Given the description of an element on the screen output the (x, y) to click on. 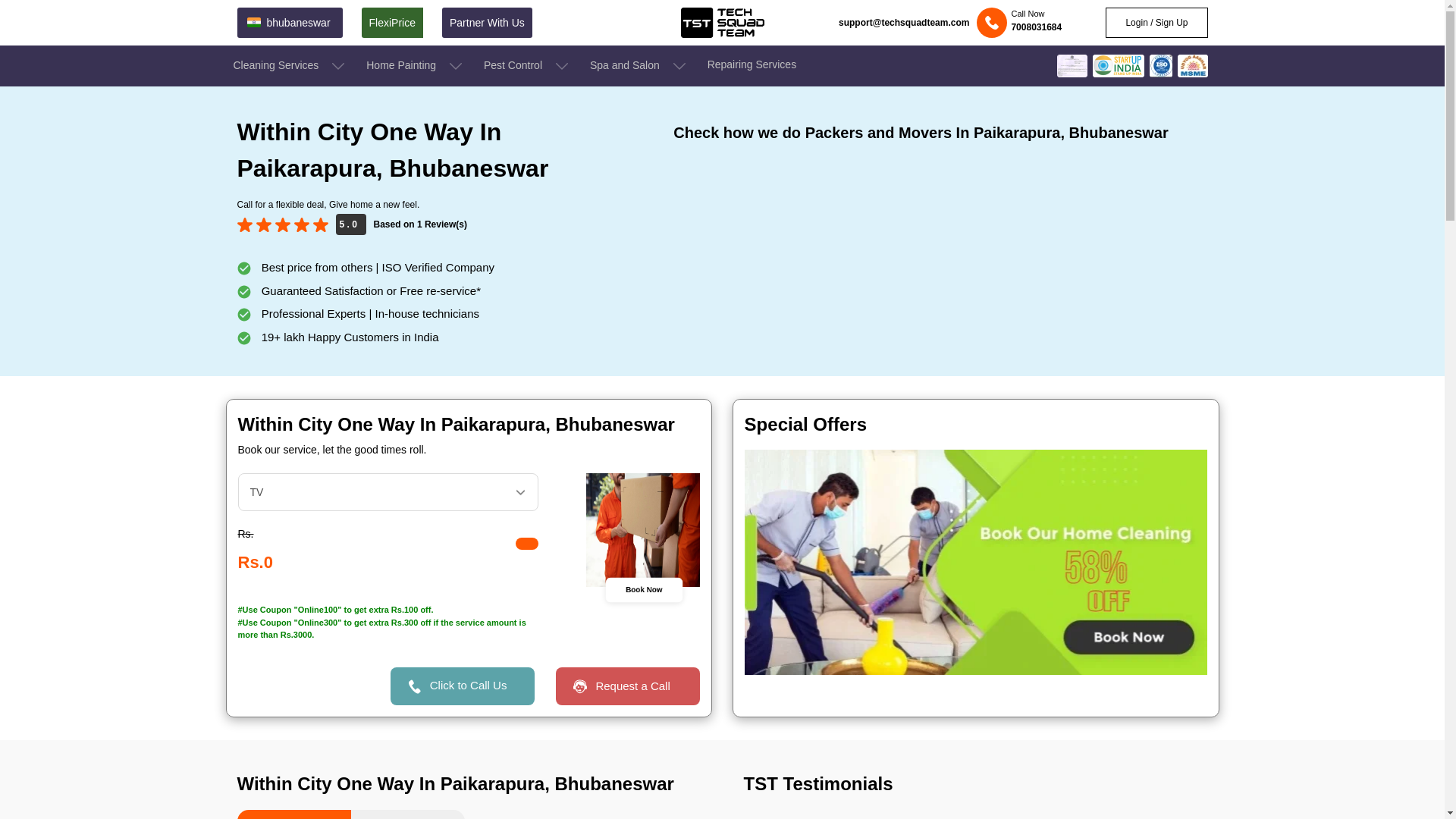
bhubaneswar (288, 22)
FlexiPrice (391, 22)
Pest Control (526, 65)
7008031684 (1035, 26)
Partner With Us (487, 22)
Home Painting (415, 65)
Cleaning Services (289, 65)
